Given the description of an element on the screen output the (x, y) to click on. 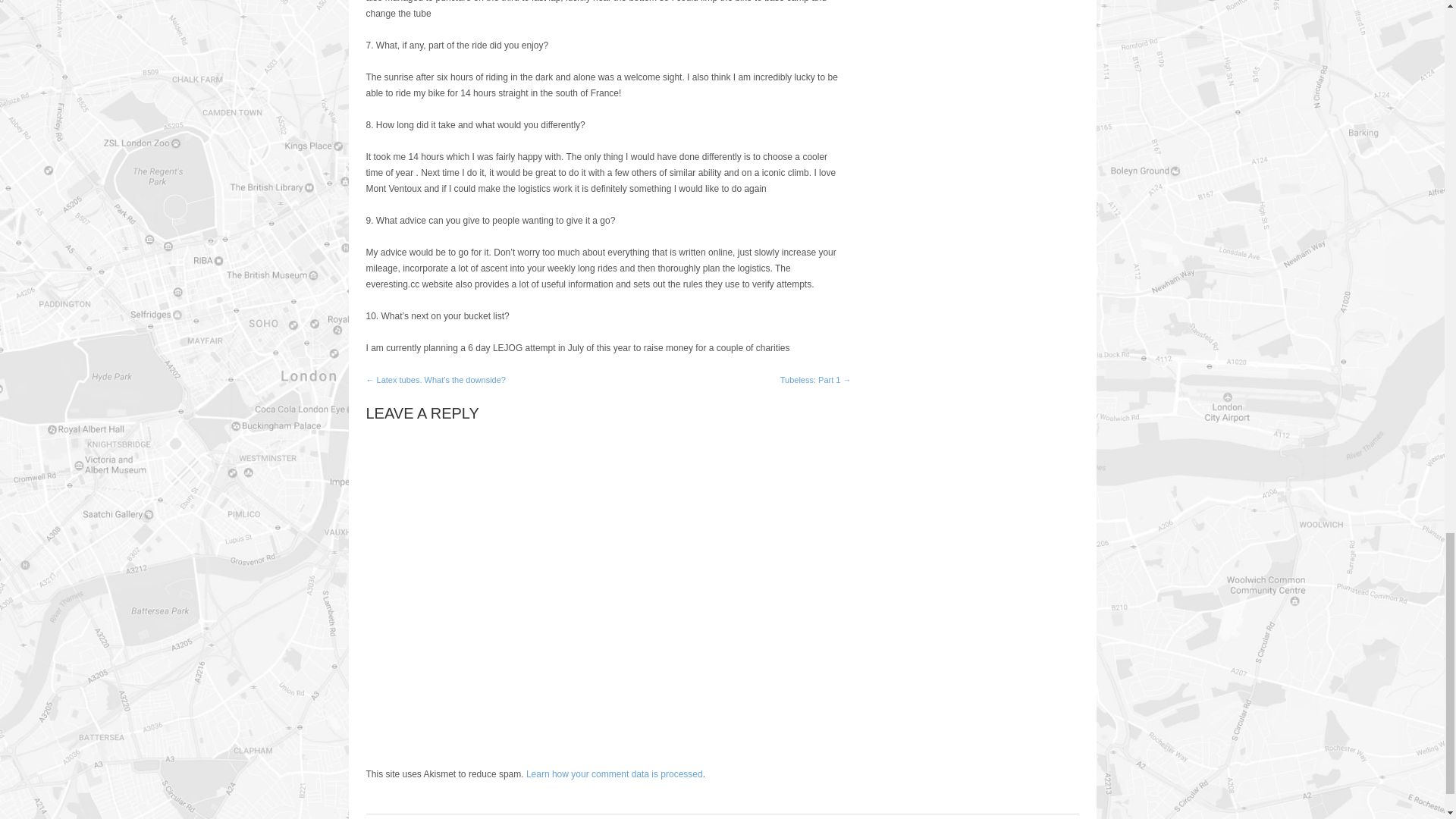
Learn how your comment data is processed (614, 774)
